Given the description of an element on the screen output the (x, y) to click on. 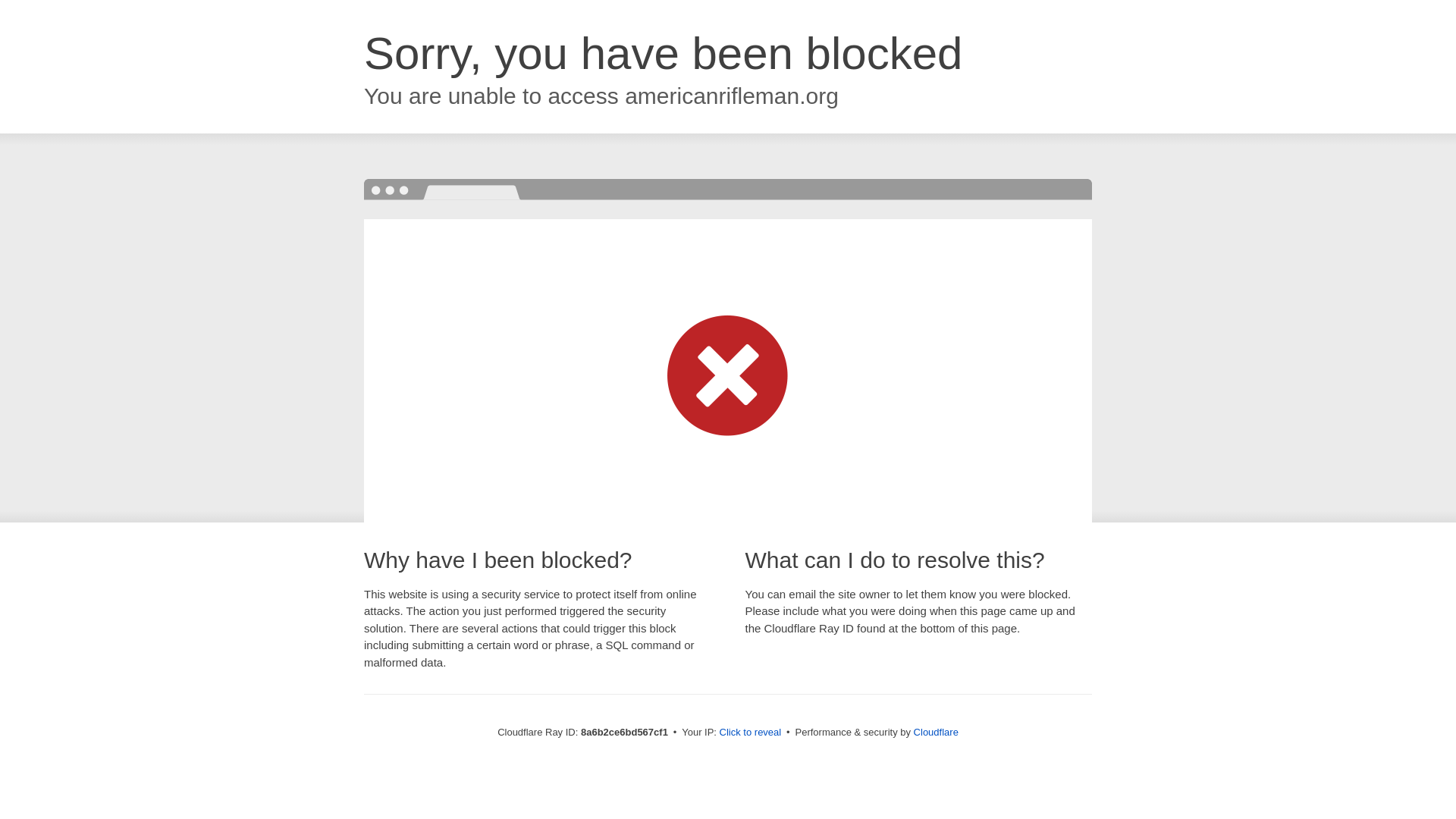
Click to reveal (750, 732)
Cloudflare (936, 731)
